Given the description of an element on the screen output the (x, y) to click on. 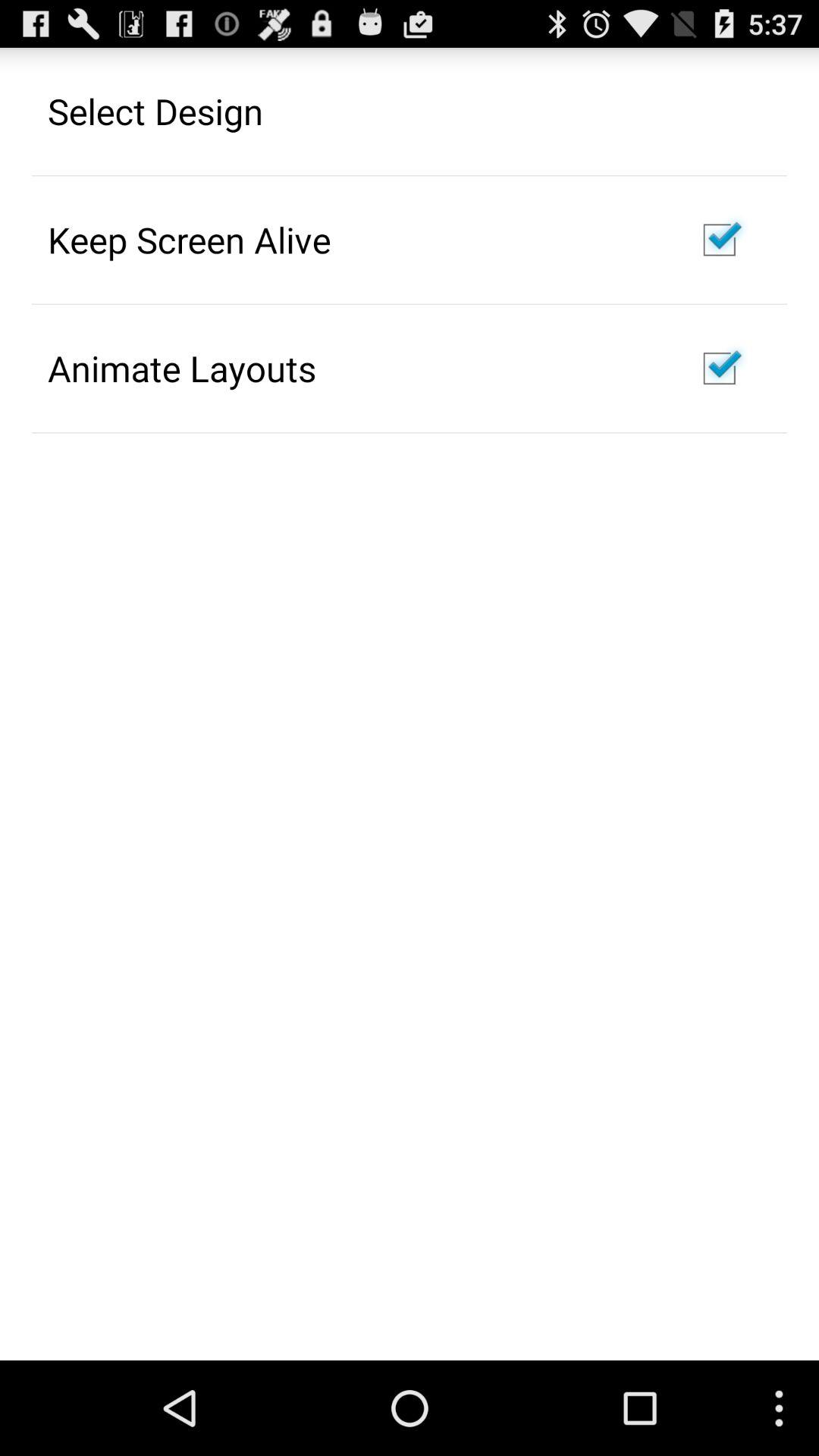
select the icon above keep screen alive (155, 111)
